Given the description of an element on the screen output the (x, y) to click on. 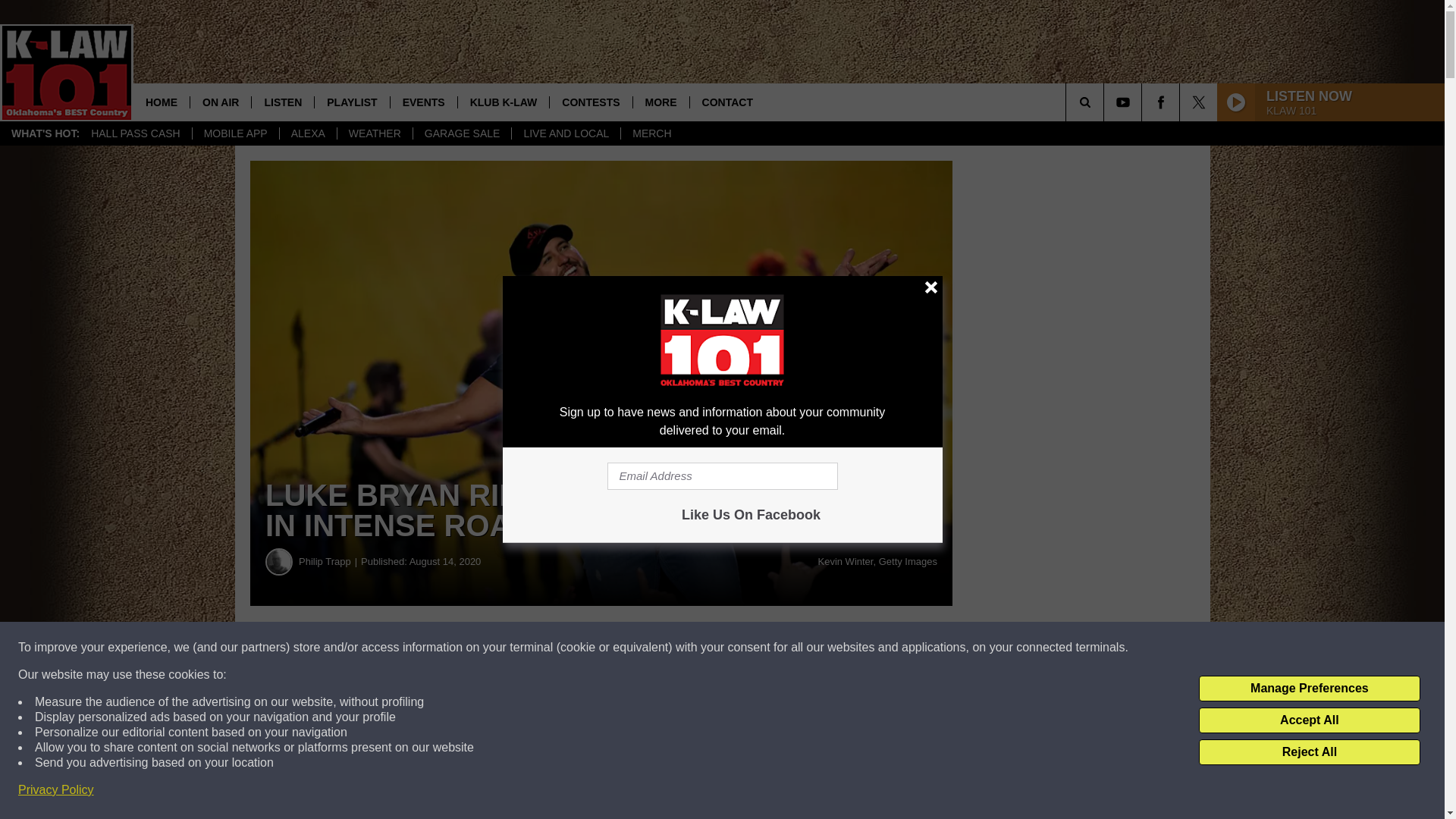
HOME (161, 102)
Privacy Policy (55, 789)
SEARCH (1106, 102)
Manage Preferences (1309, 688)
ON AIR (219, 102)
MOBILE APP (235, 133)
Email Address (722, 475)
Reject All (1309, 751)
GARAGE SALE (462, 133)
EVENTS (423, 102)
SEARCH (1106, 102)
LISTEN (282, 102)
HALL PASS CASH (136, 133)
PLAYLIST (351, 102)
WEATHER (374, 133)
